Given the description of an element on the screen output the (x, y) to click on. 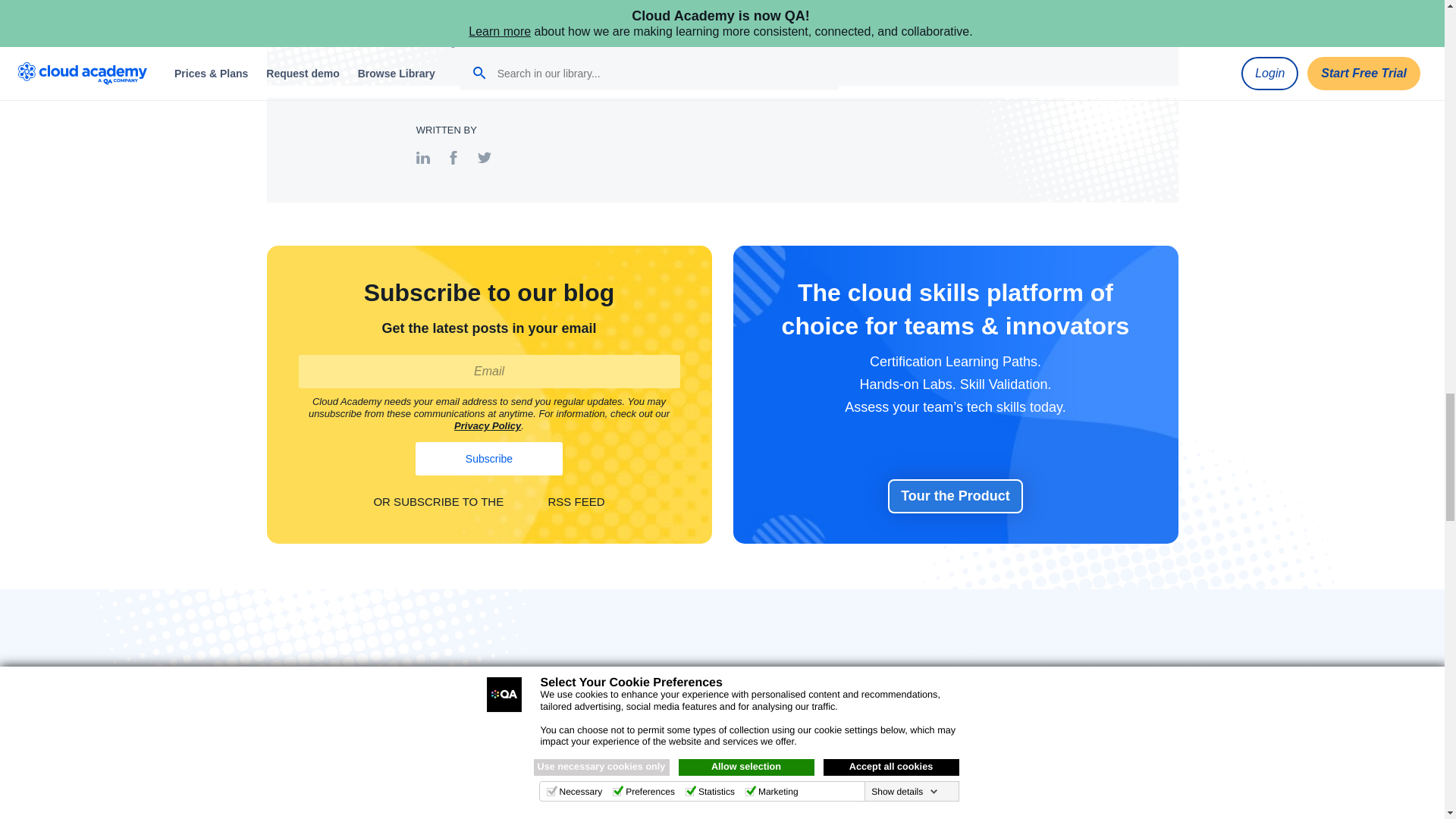
Subscribe (488, 458)
